Given the description of an element on the screen output the (x, y) to click on. 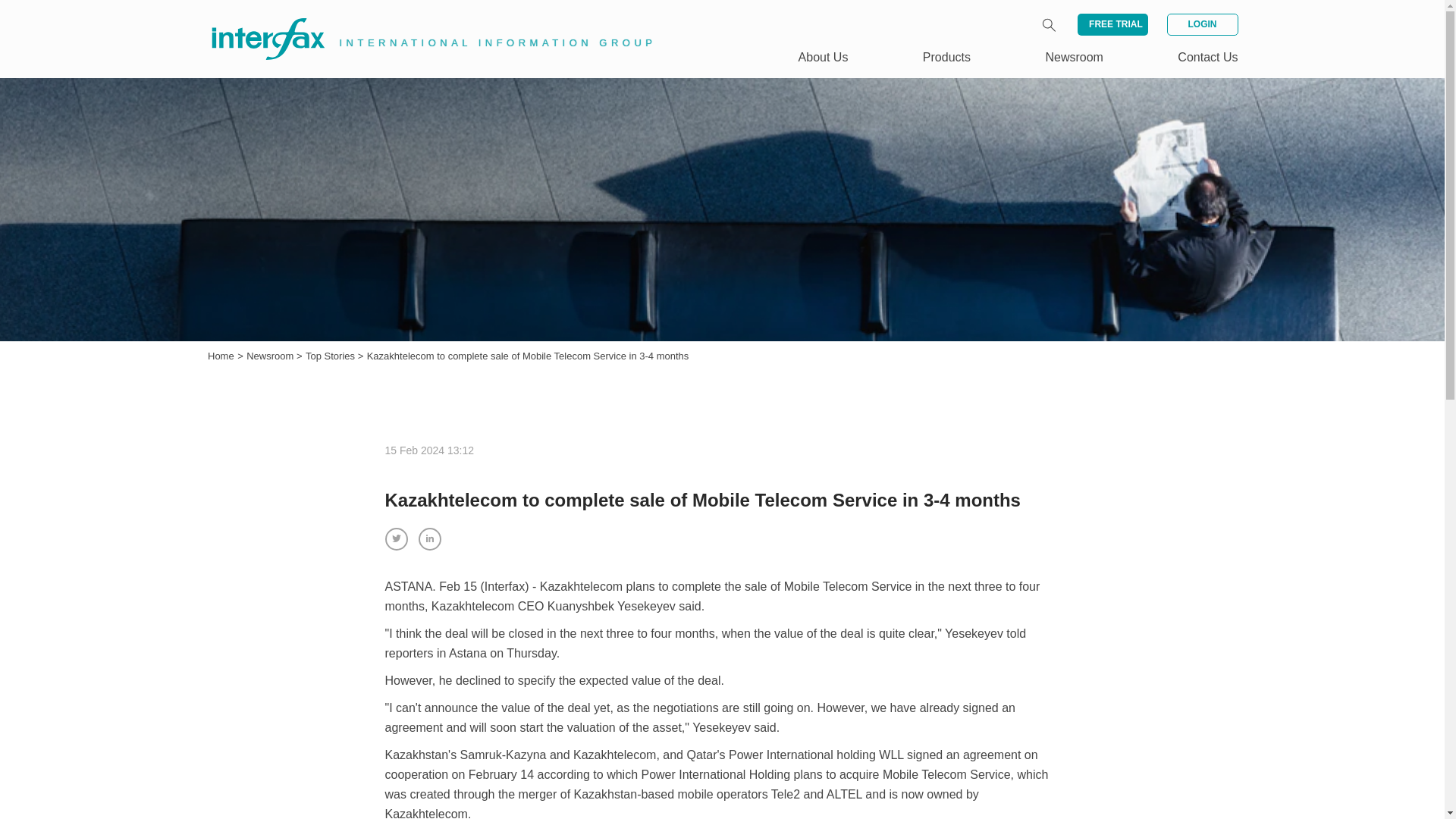
About Us (822, 56)
INTERNATIONAL INFORMATION GROUP (421, 20)
Top Stories (331, 355)
Newsroom (1073, 56)
Contact Us (1207, 56)
Home (221, 355)
Products (947, 56)
FREE TRIAL (1112, 24)
Newsroom (271, 355)
LOGIN (1201, 24)
Contact Us (1207, 56)
Newsroom (271, 355)
